Given the description of an element on the screen output the (x, y) to click on. 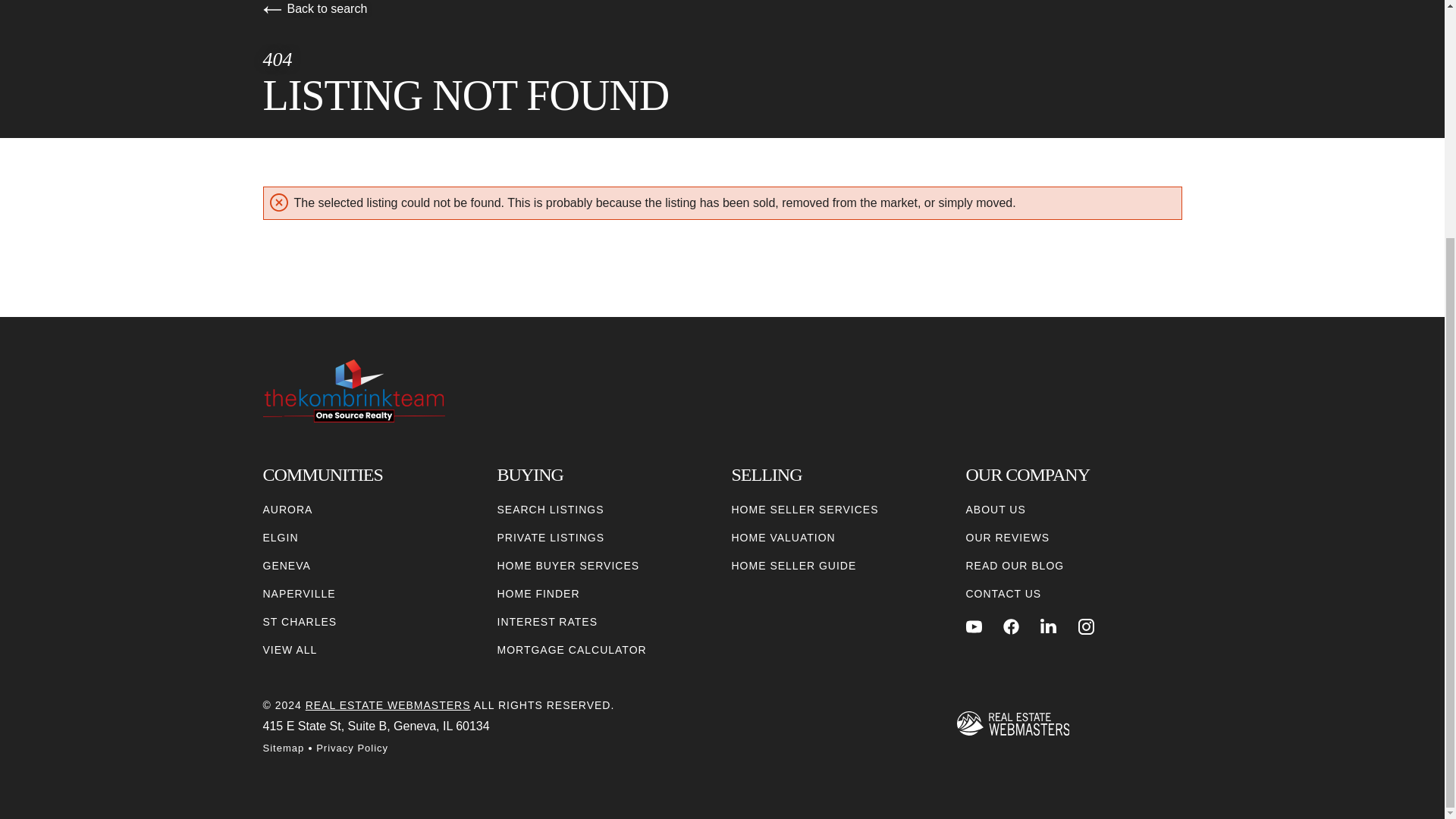
ST CHARLES (299, 621)
FACEBOOK (1011, 626)
NAPERVILLE (298, 593)
GENEVA (286, 565)
YOUTUBE (973, 626)
ELGIN (280, 537)
LINKEDIN (1049, 626)
VIEW ALL (289, 650)
AURORA (287, 509)
Back to search (314, 8)
